Given the description of an element on the screen output the (x, y) to click on. 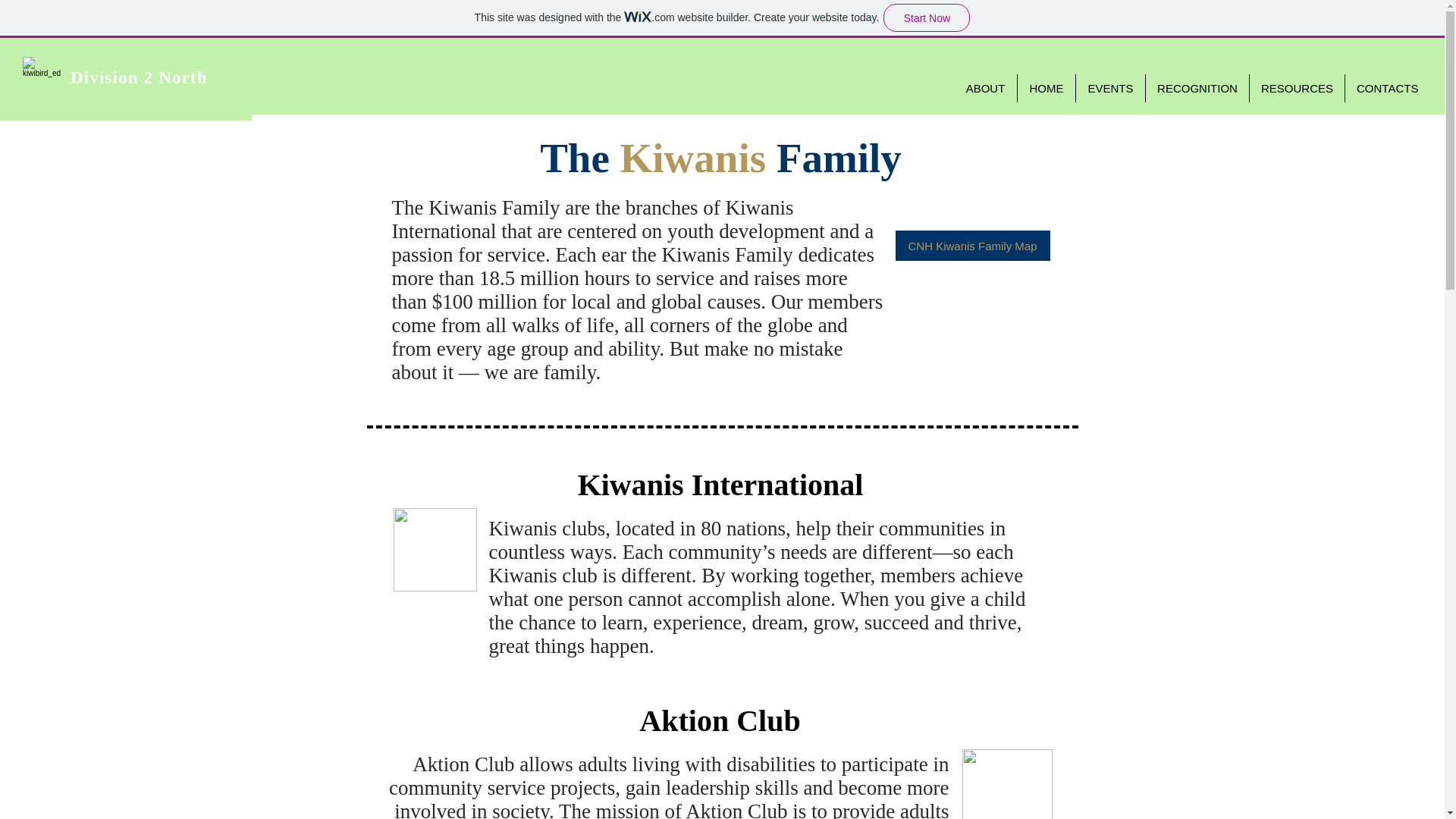
HOME (1045, 88)
RESOURCES (1296, 88)
EVENTS (1109, 88)
CONTACTS (1386, 88)
ABOUT (984, 88)
CNH Kiwanis Family Map (972, 245)
Division 2 North (138, 76)
RECOGNITION (1196, 88)
